Given the description of an element on the screen output the (x, y) to click on. 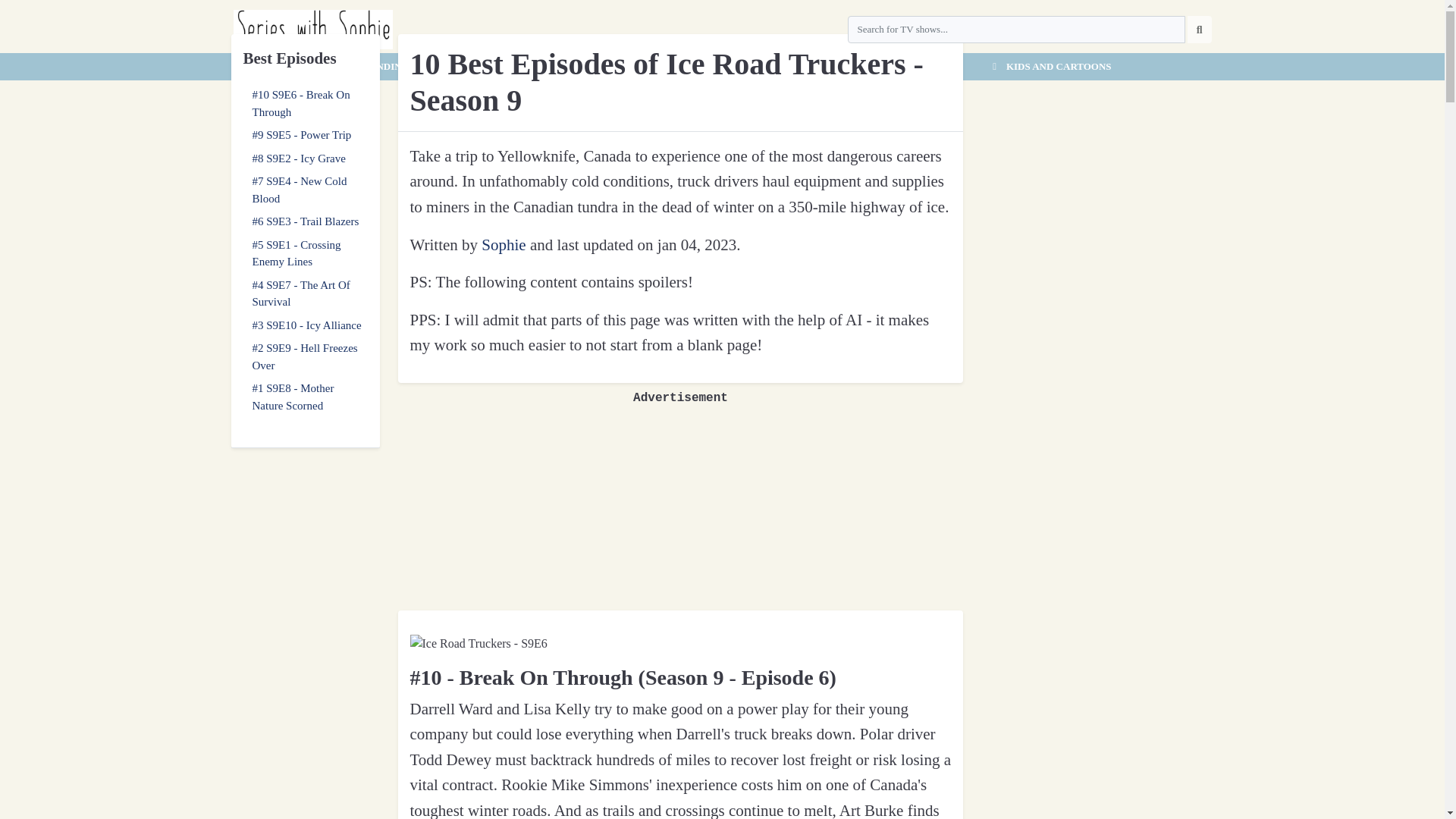
KIDS AND CARTOONS (1048, 66)
REALITY TV (721, 66)
TRENDING SHOWS (393, 66)
Sophie (503, 244)
